Given the description of an element on the screen output the (x, y) to click on. 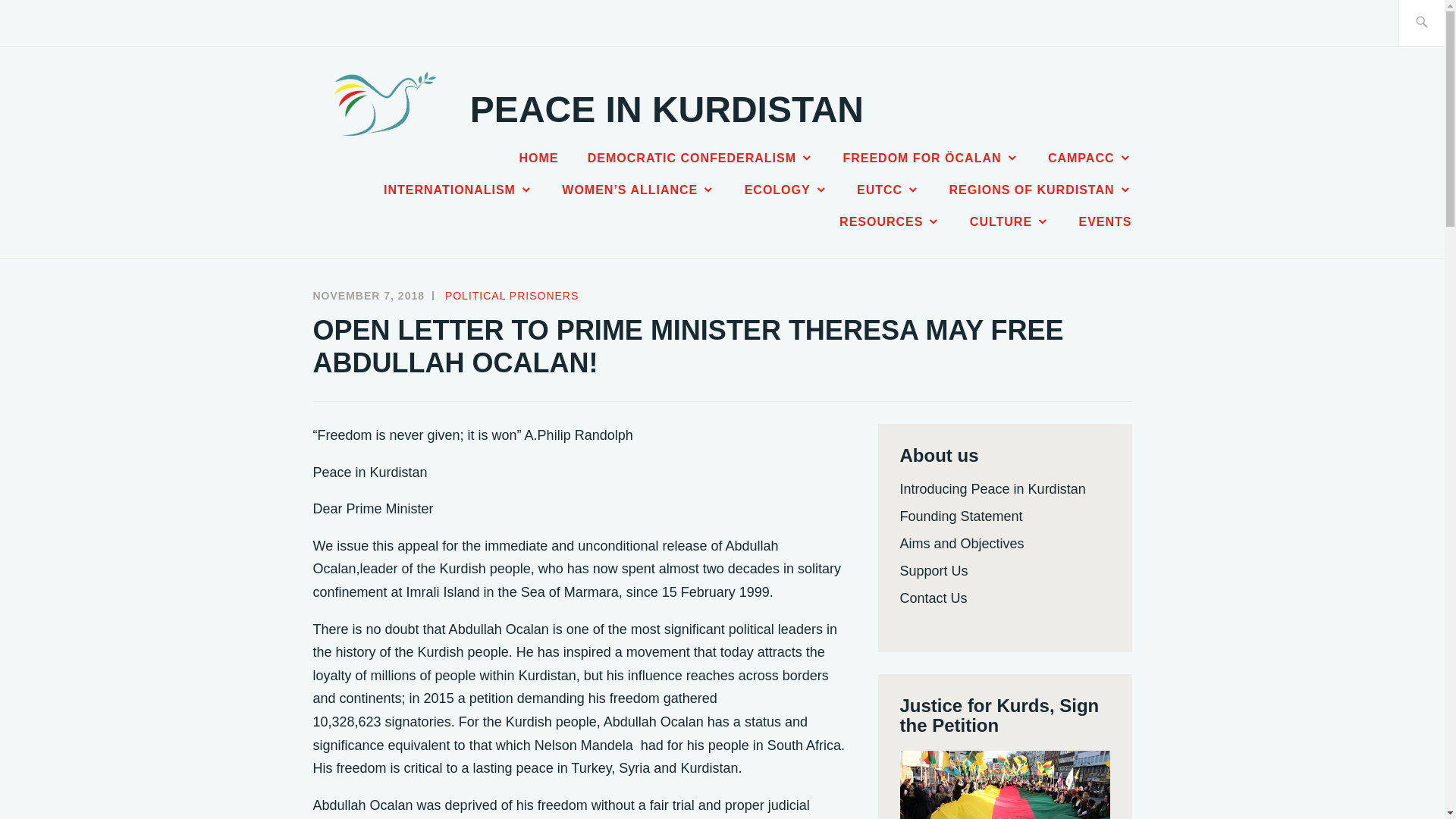
INTERNATIONALISM (458, 189)
HOME (537, 158)
EUTCC (888, 189)
ECOLOGY (786, 189)
Search (47, 22)
PEACE IN KURDISTAN (666, 109)
DEMOCRATIC CONFEDERALISM (700, 158)
CAMPACC (1090, 158)
